Given the description of an element on the screen output the (x, y) to click on. 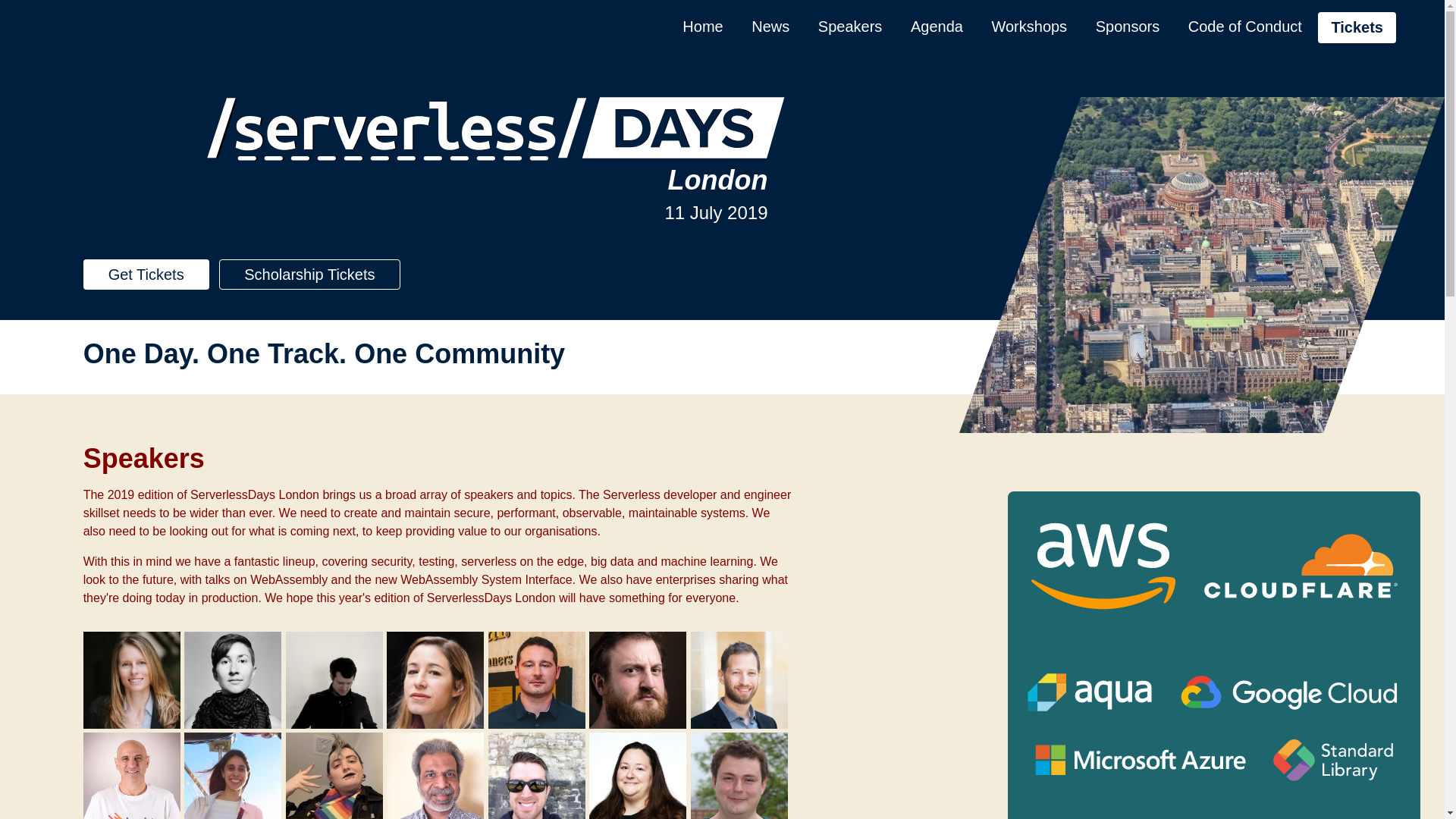
Scholarship Tickets (308, 274)
Speakers (850, 26)
Sponsors (1127, 26)
Tickets (1356, 27)
Agenda (936, 26)
Workshops (1028, 26)
Home (702, 26)
News (770, 26)
Code of Conduct (1245, 26)
Get Tickets (145, 274)
